Given the description of an element on the screen output the (x, y) to click on. 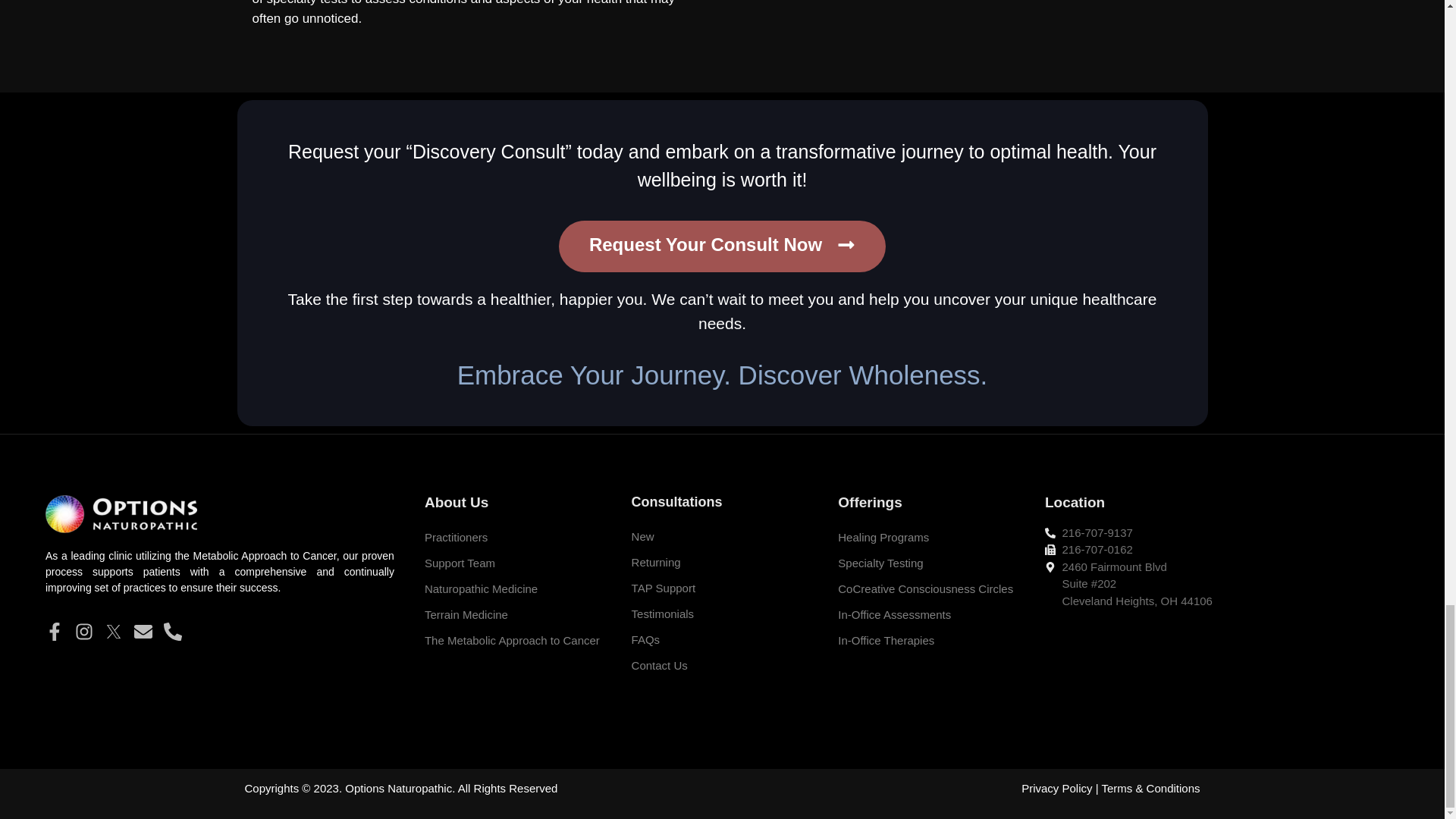
2460 Fairmount Blvd, Cleveland Heights, OH 44118, USA (1222, 681)
